Given the description of an element on the screen output the (x, y) to click on. 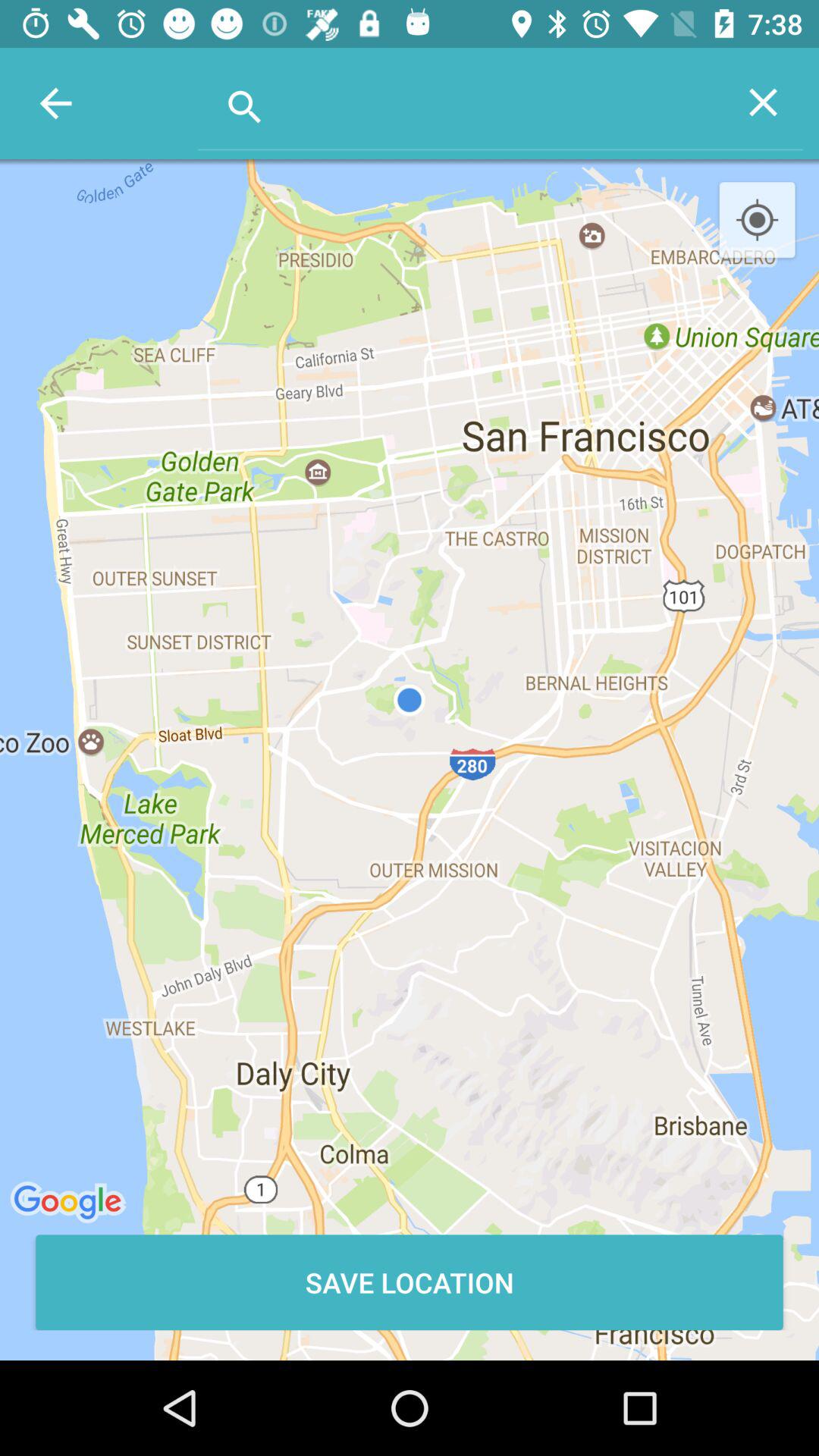
type in search seciton (460, 102)
